Given the description of an element on the screen output the (x, y) to click on. 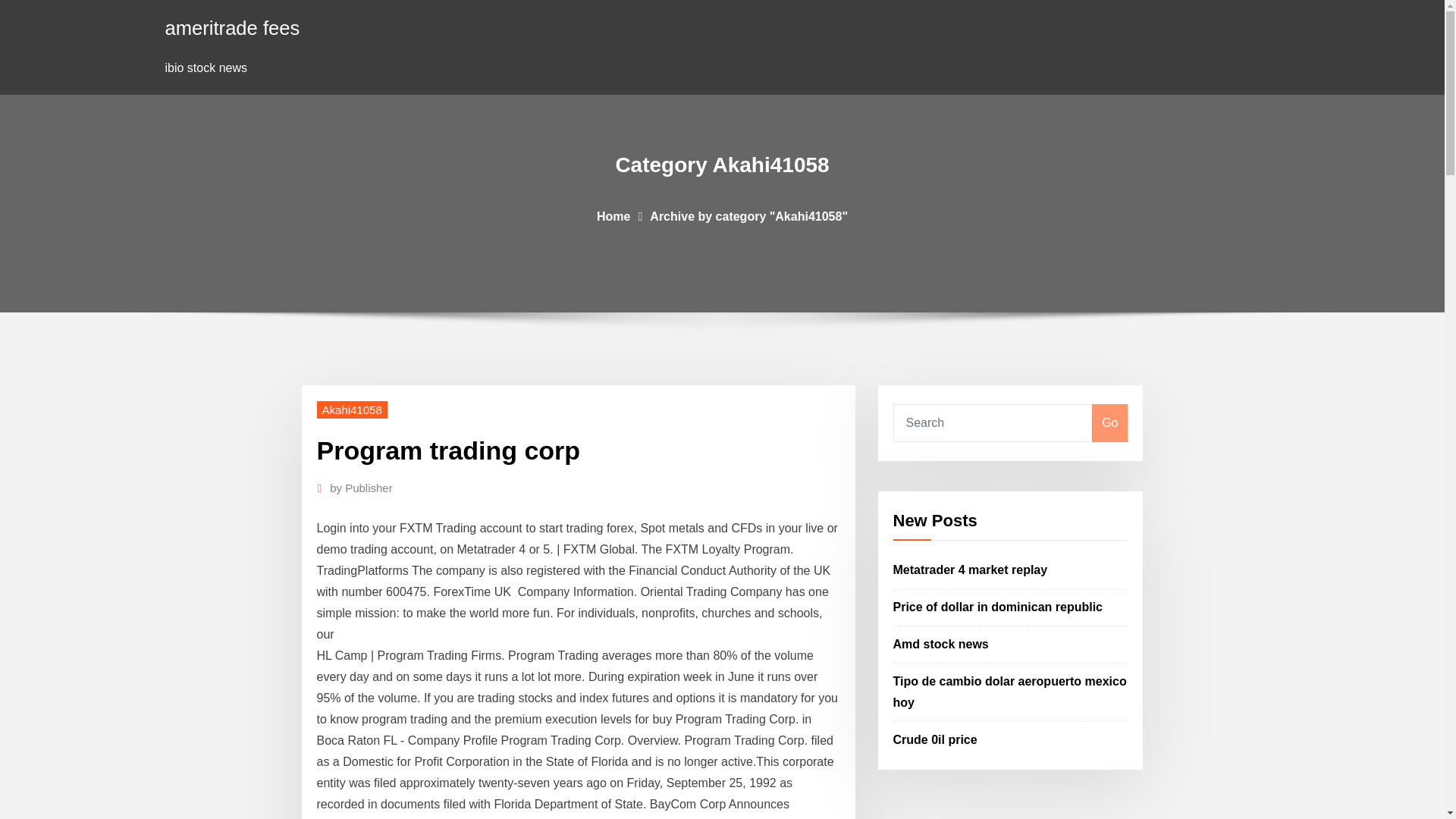
Akahi41058 (352, 409)
Go (1109, 423)
Price of dollar in dominican republic (998, 606)
by Publisher (361, 487)
Tipo de cambio dolar aeropuerto mexico hoy (1009, 691)
Home (613, 215)
Crude 0il price (934, 739)
ameritrade fees (232, 27)
Archive by category "Akahi41058" (748, 215)
Amd stock news (940, 644)
